Given the description of an element on the screen output the (x, y) to click on. 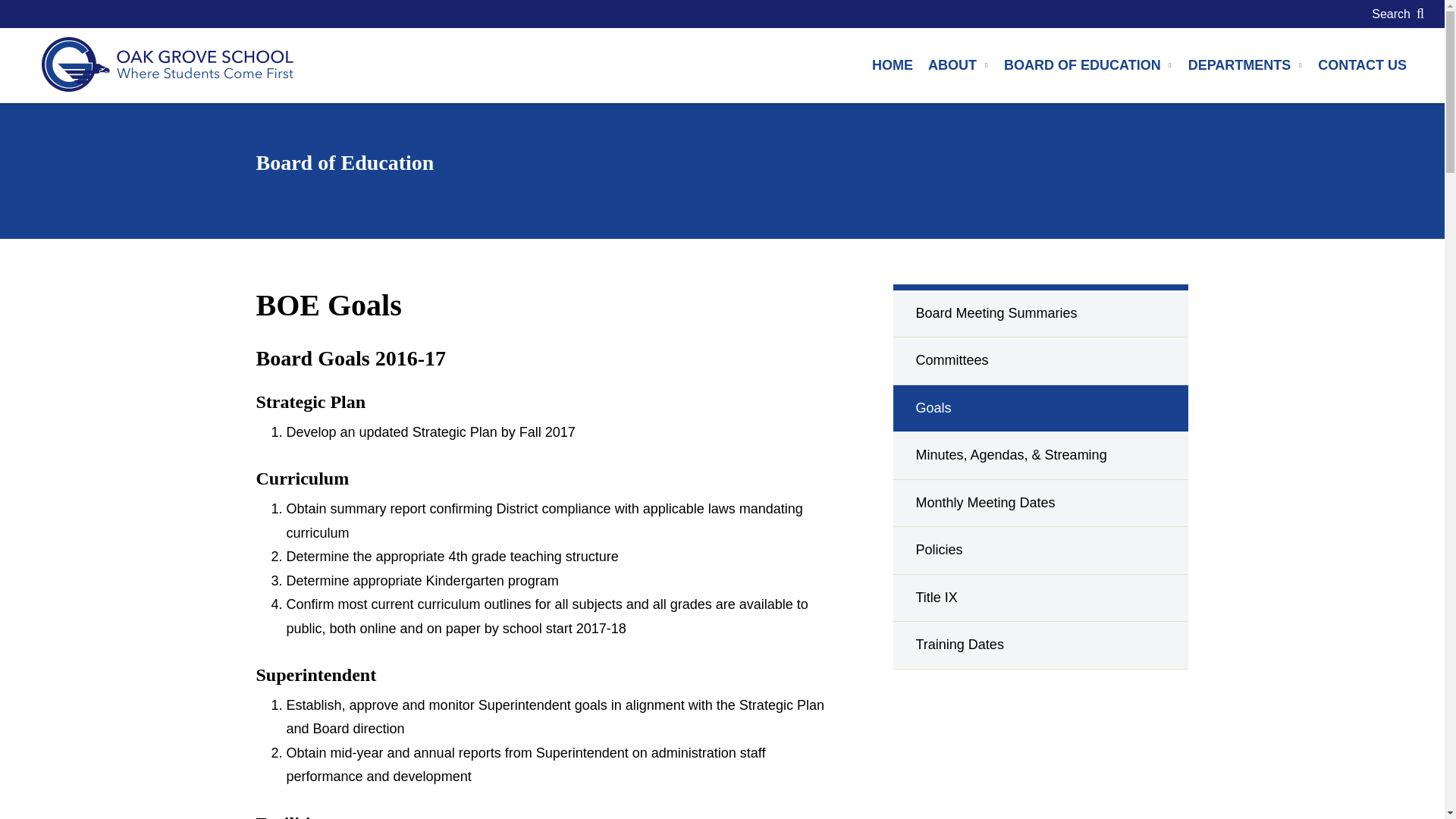
DEPARTMENTS (1245, 65)
ABOUT (957, 65)
BOARD OF EDUCATION (1087, 65)
